Given the description of an element on the screen output the (x, y) to click on. 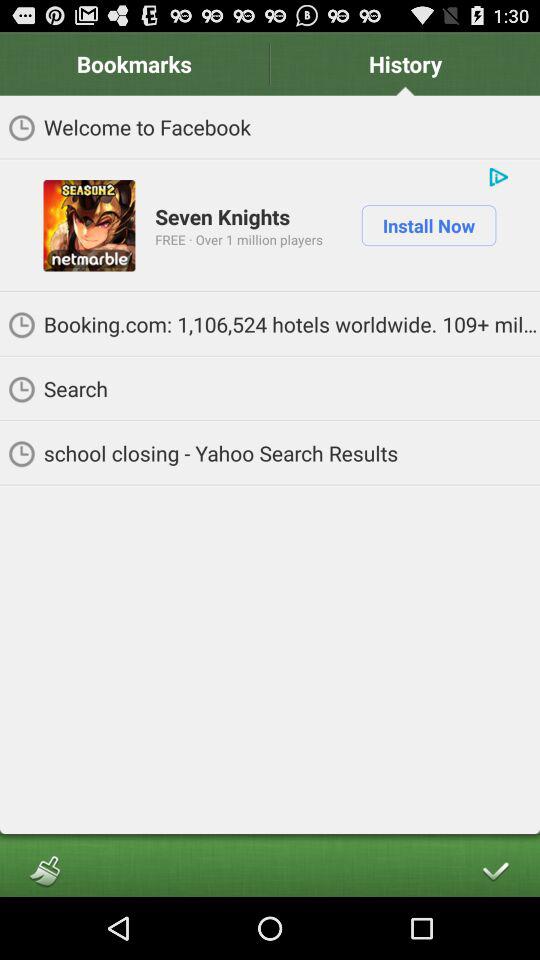
open seven knights icon (222, 216)
